Given the description of an element on the screen output the (x, y) to click on. 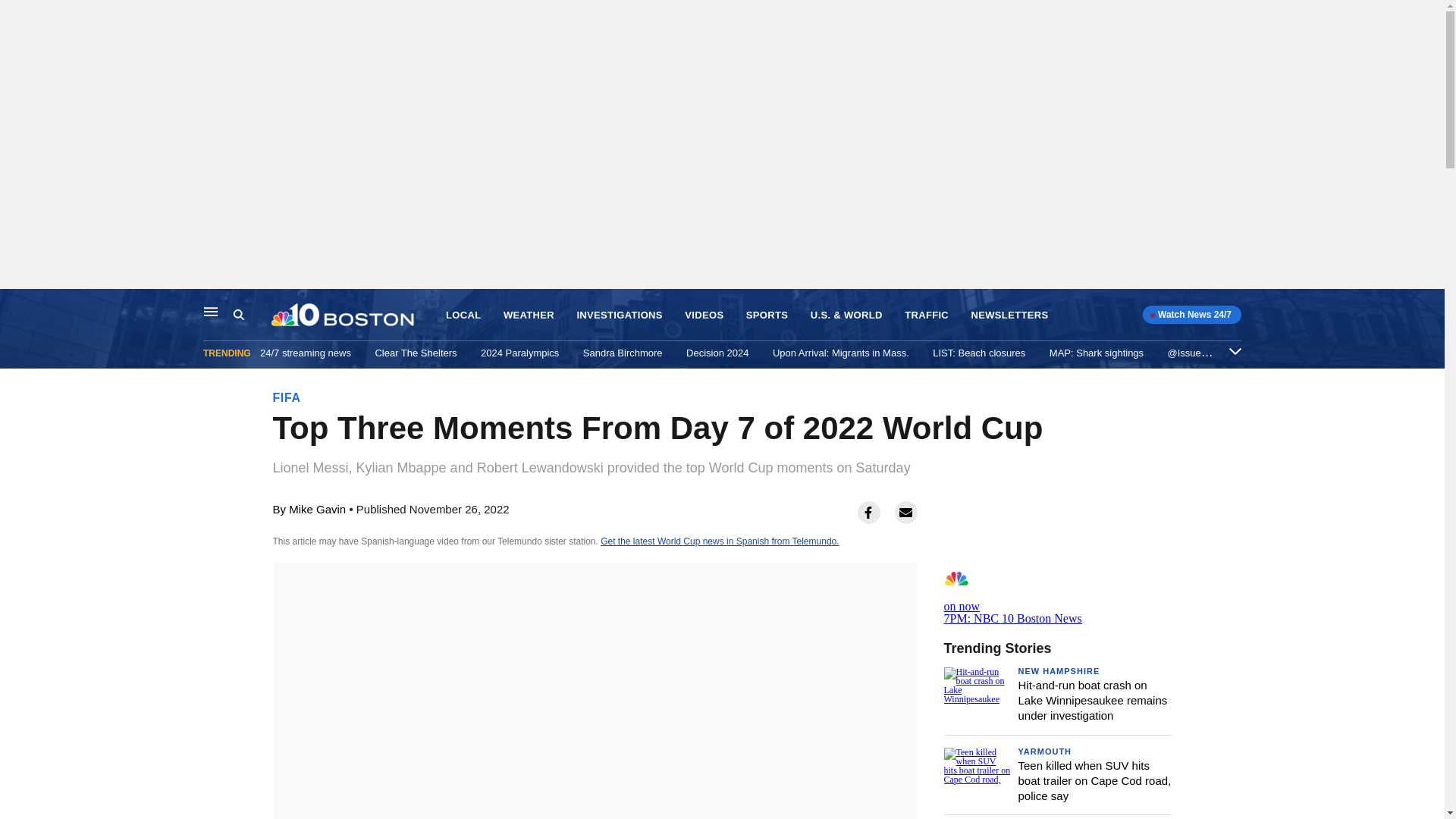
Expand (1234, 350)
INVESTIGATIONS (619, 315)
Upon Arrival: Migrants in Mass. (840, 352)
Get the latest World Cup news in Spanish from Telemundo. (718, 541)
SPORTS (766, 315)
Skip to content (16, 304)
FIFA (287, 397)
Sandra Birchmore (622, 352)
NEWSLETTERS (1009, 315)
Main Navigation (210, 311)
